Given the description of an element on the screen output the (x, y) to click on. 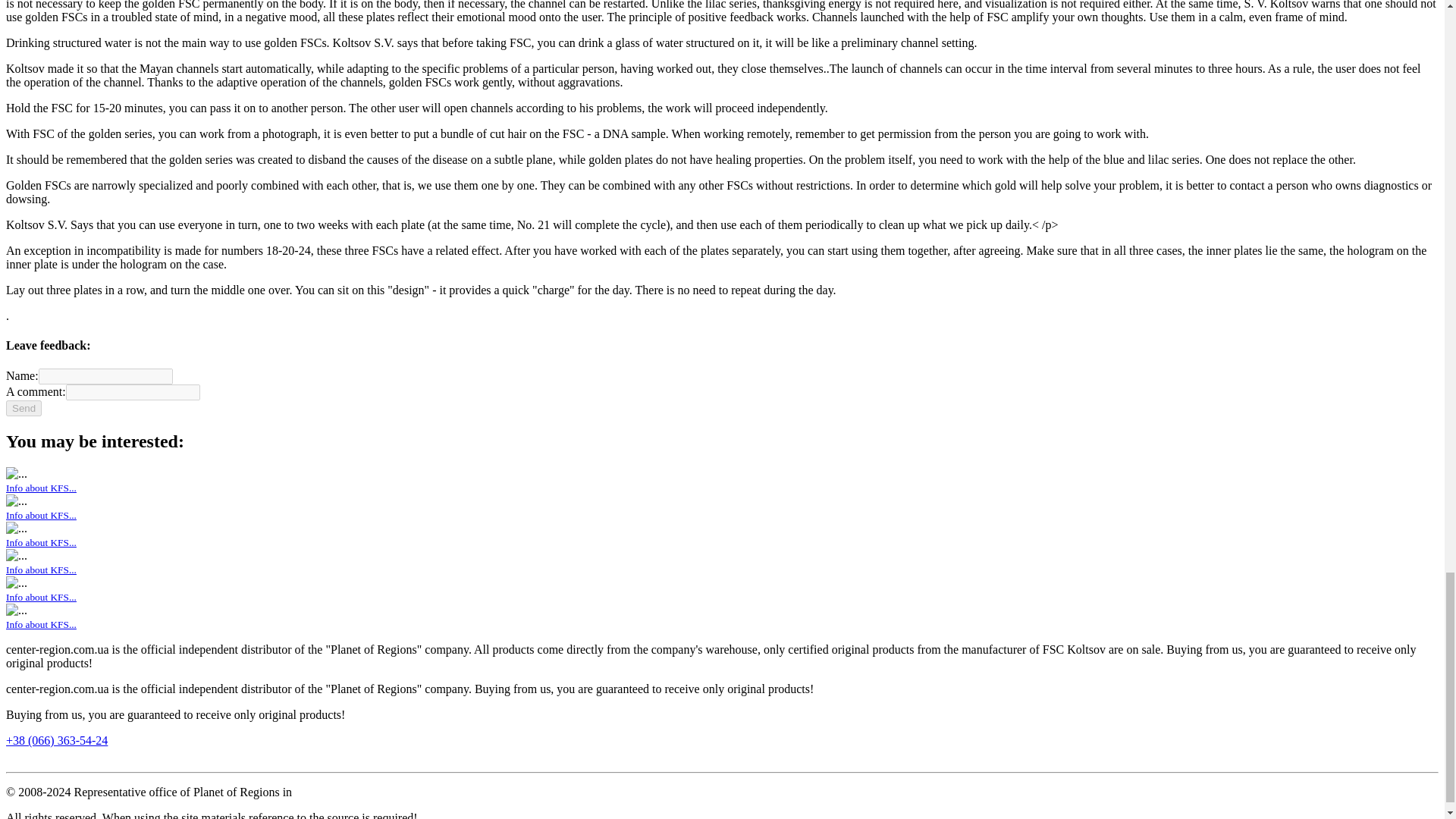
Telegram (28, 758)
Viber (13, 758)
